Given the description of an element on the screen output the (x, y) to click on. 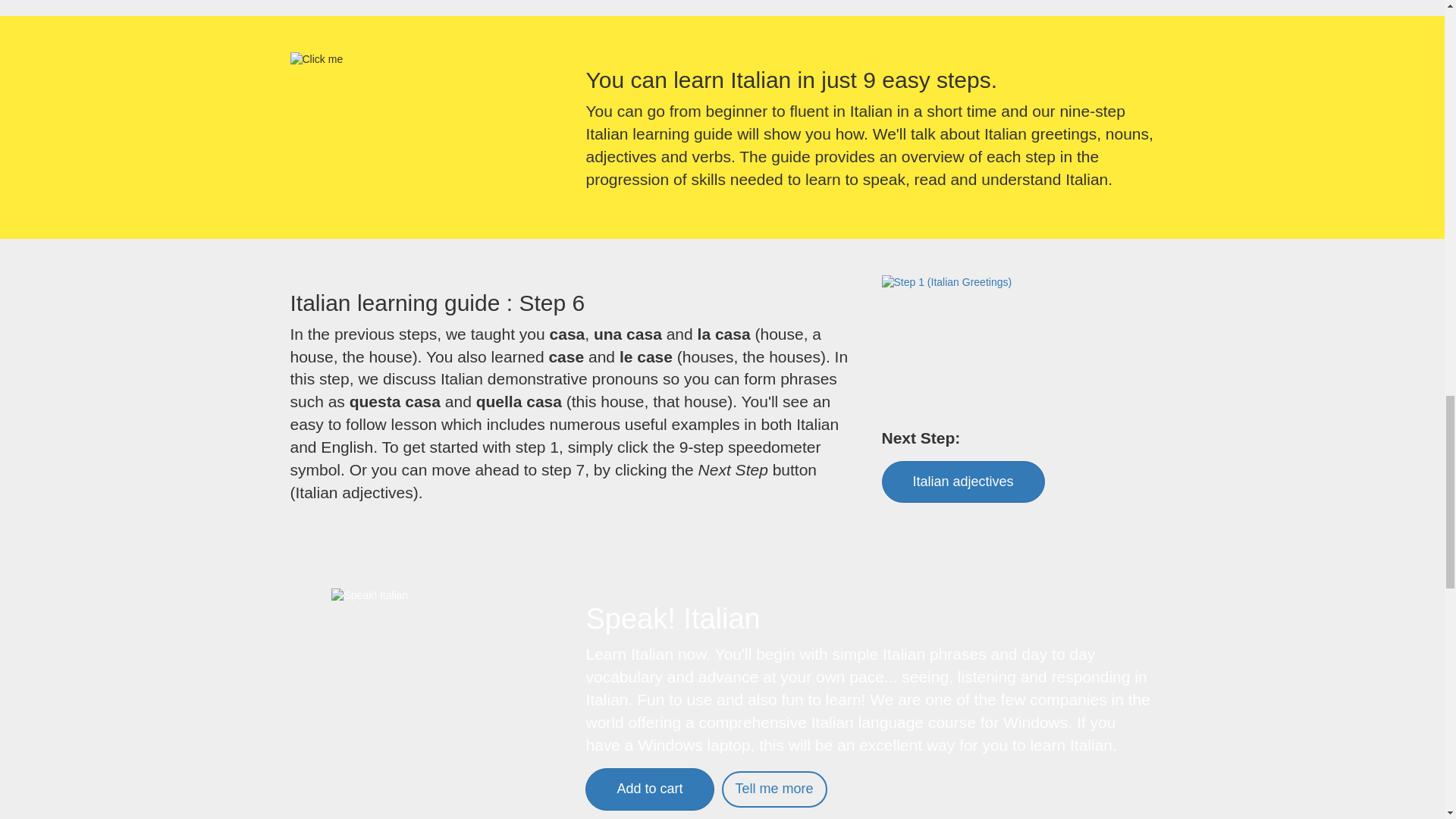
Tell me more (774, 789)
Click me (315, 59)
Add to cart (649, 789)
Italian adjectives (961, 482)
